Given the description of an element on the screen output the (x, y) to click on. 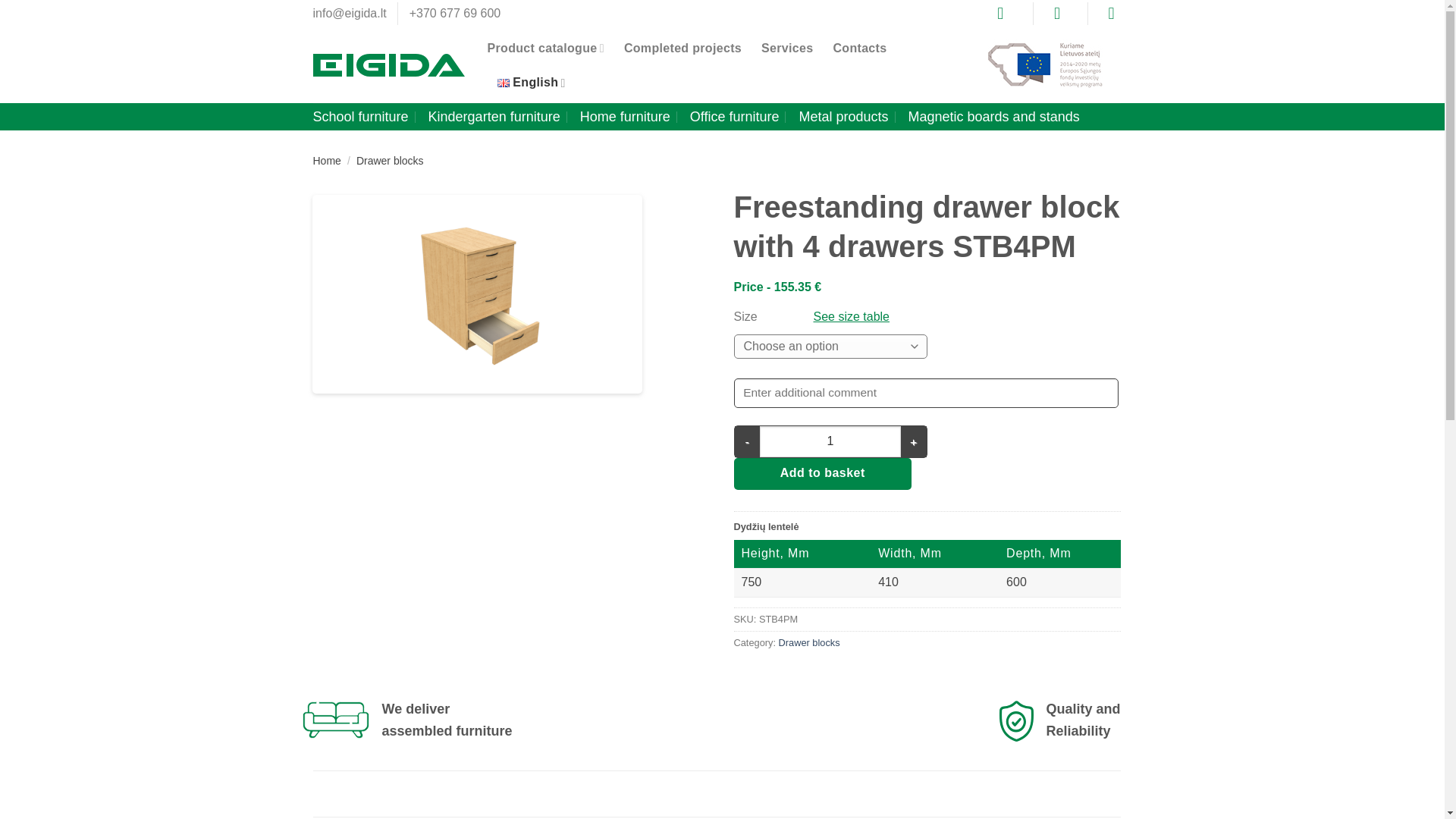
Product catalogue (545, 48)
English (531, 82)
Kindergarten furniture (494, 116)
Home (326, 160)
Magnetic boards and stands (994, 116)
Contacts (859, 48)
Services (786, 48)
1 (830, 440)
Office furniture (734, 116)
Completed projects (682, 48)
